Given the description of an element on the screen output the (x, y) to click on. 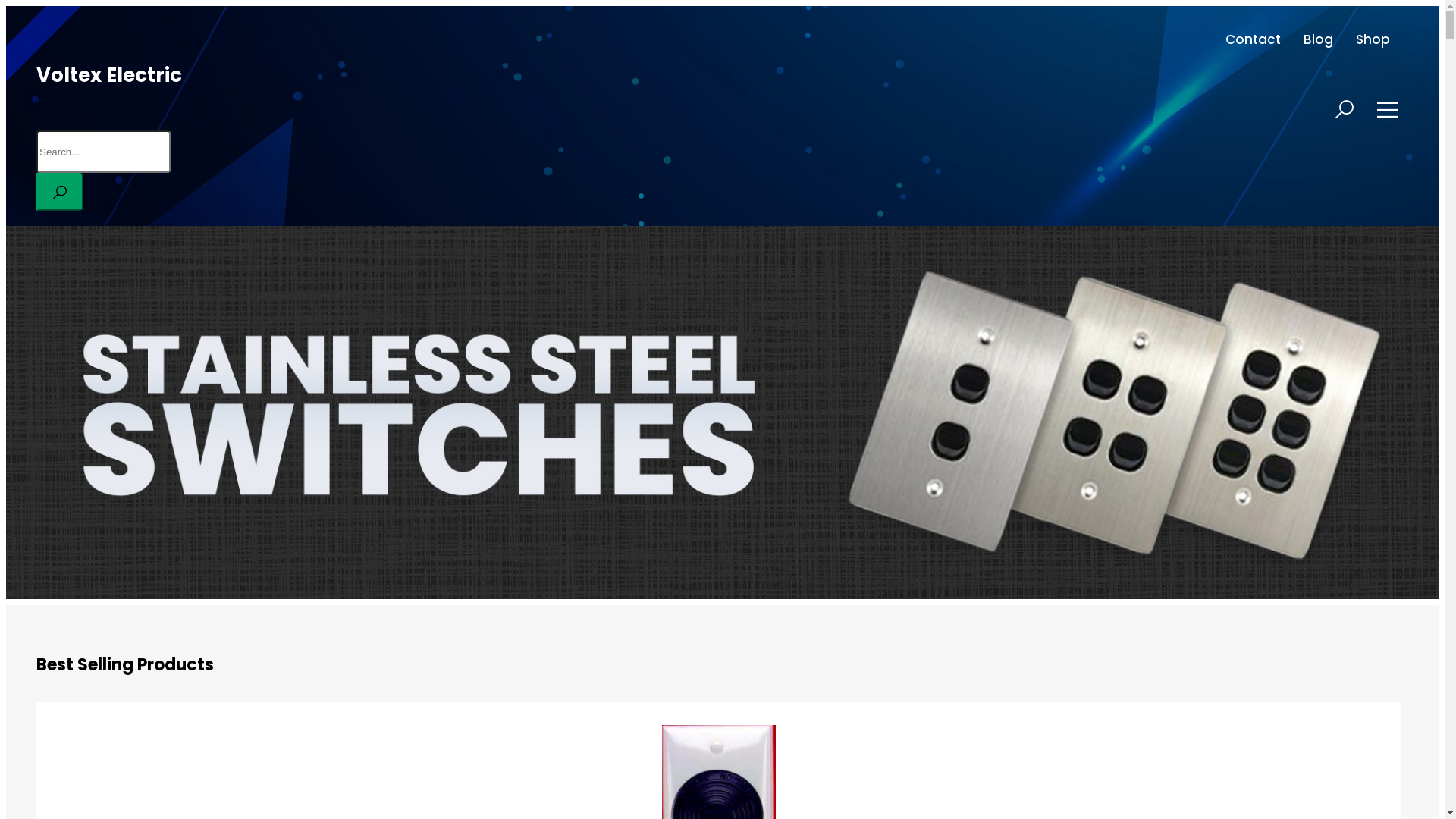
Voltex Electric Element type: text (109, 74)
Contact Element type: text (1253, 39)
Shop Element type: text (1372, 39)
Blog Element type: text (1318, 39)
